Given the description of an element on the screen output the (x, y) to click on. 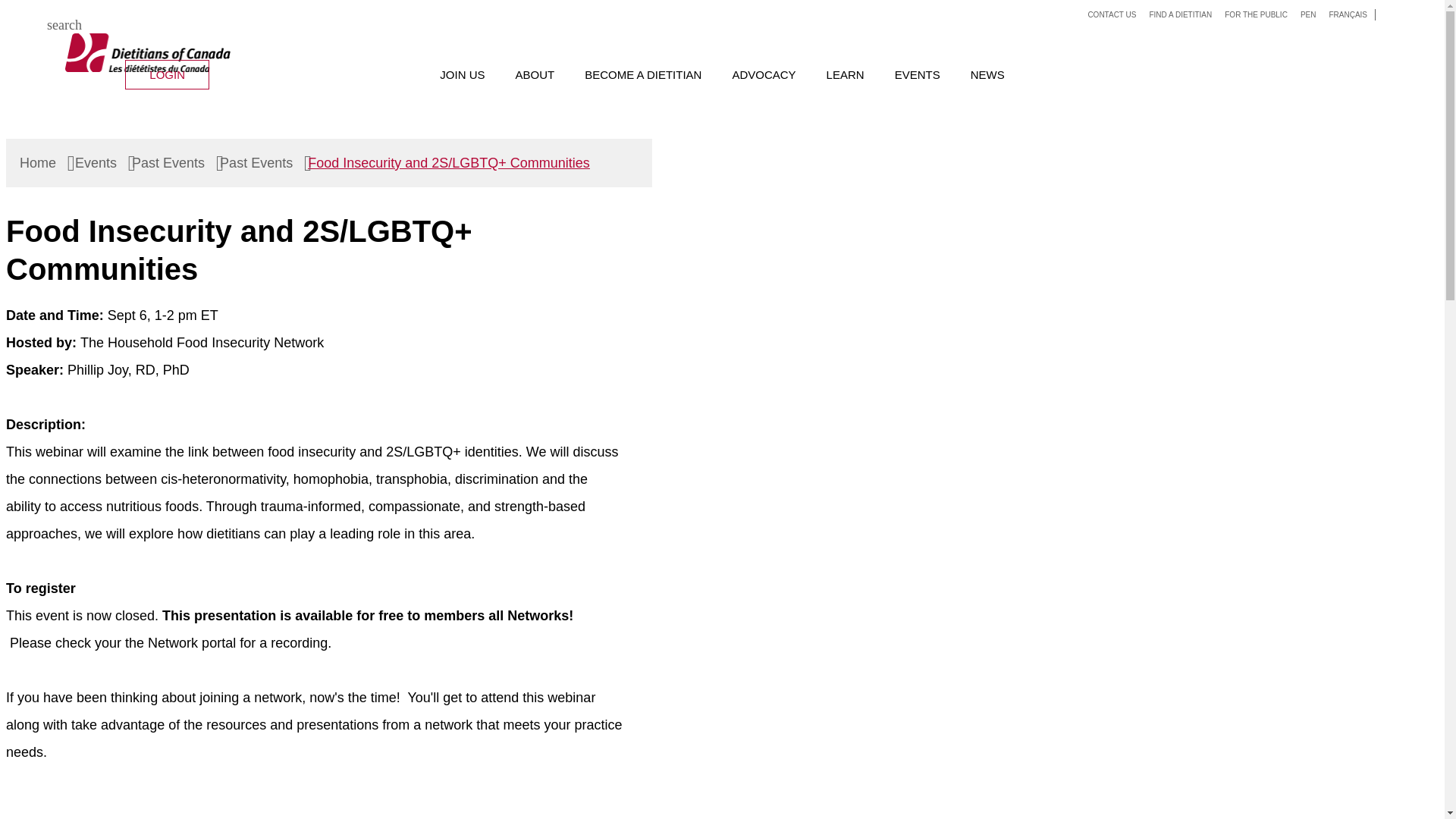
CONTACT US (1111, 14)
FIND A DIETITIAN (1179, 14)
FOR THE PUBLIC (1255, 14)
JOIN US (461, 74)
BECOME A DIETITIAN (643, 74)
PEN (1308, 14)
ABOUT (534, 74)
ADVOCACY (763, 74)
